Given the description of an element on the screen output the (x, y) to click on. 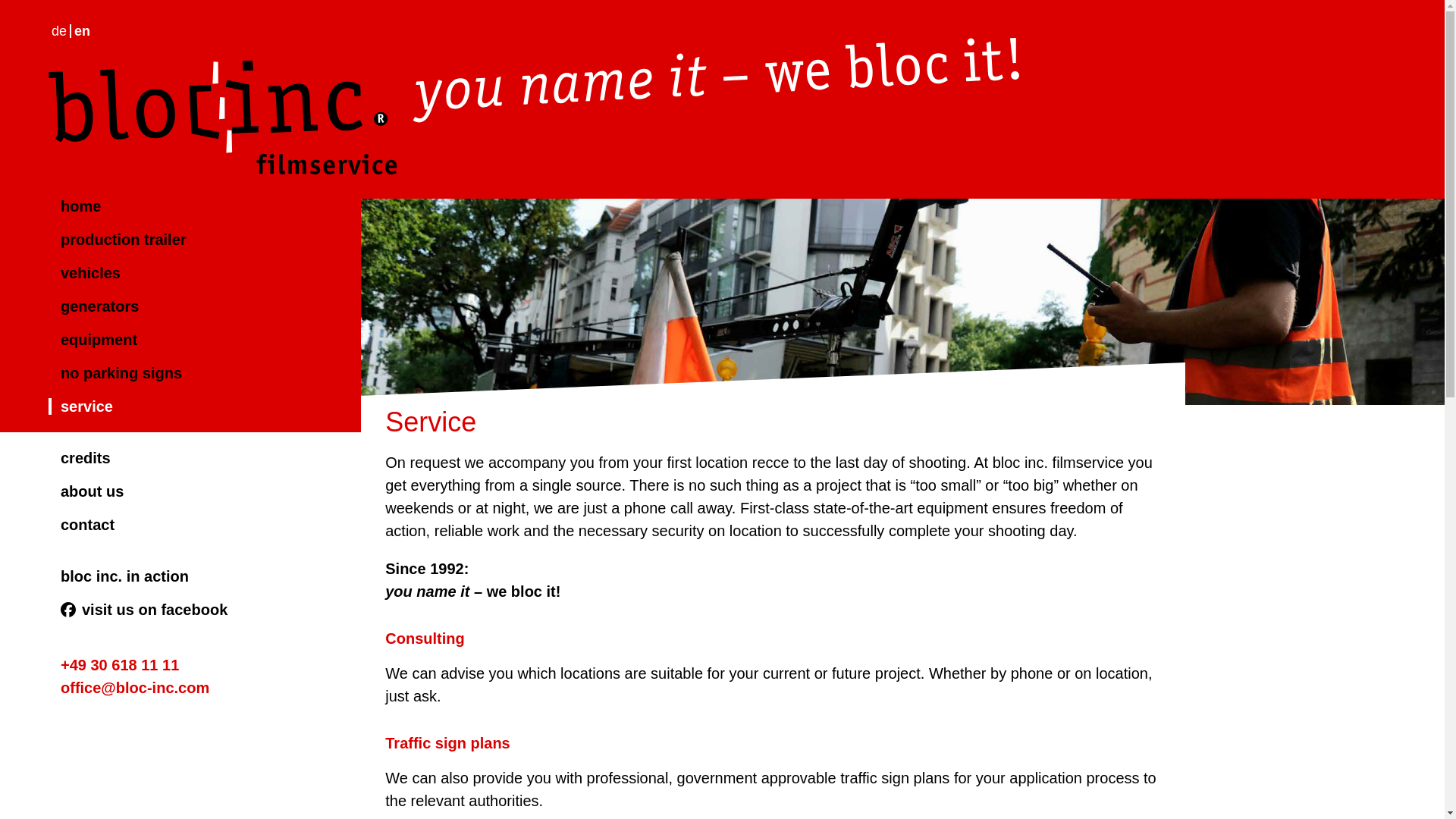
de (58, 30)
home (74, 206)
en (82, 30)
contact (81, 524)
about us (85, 491)
production trailer (117, 239)
credits (79, 457)
bloc inc. in action (118, 576)
service (80, 406)
visit us on facebook (142, 609)
